Given the description of an element on the screen output the (x, y) to click on. 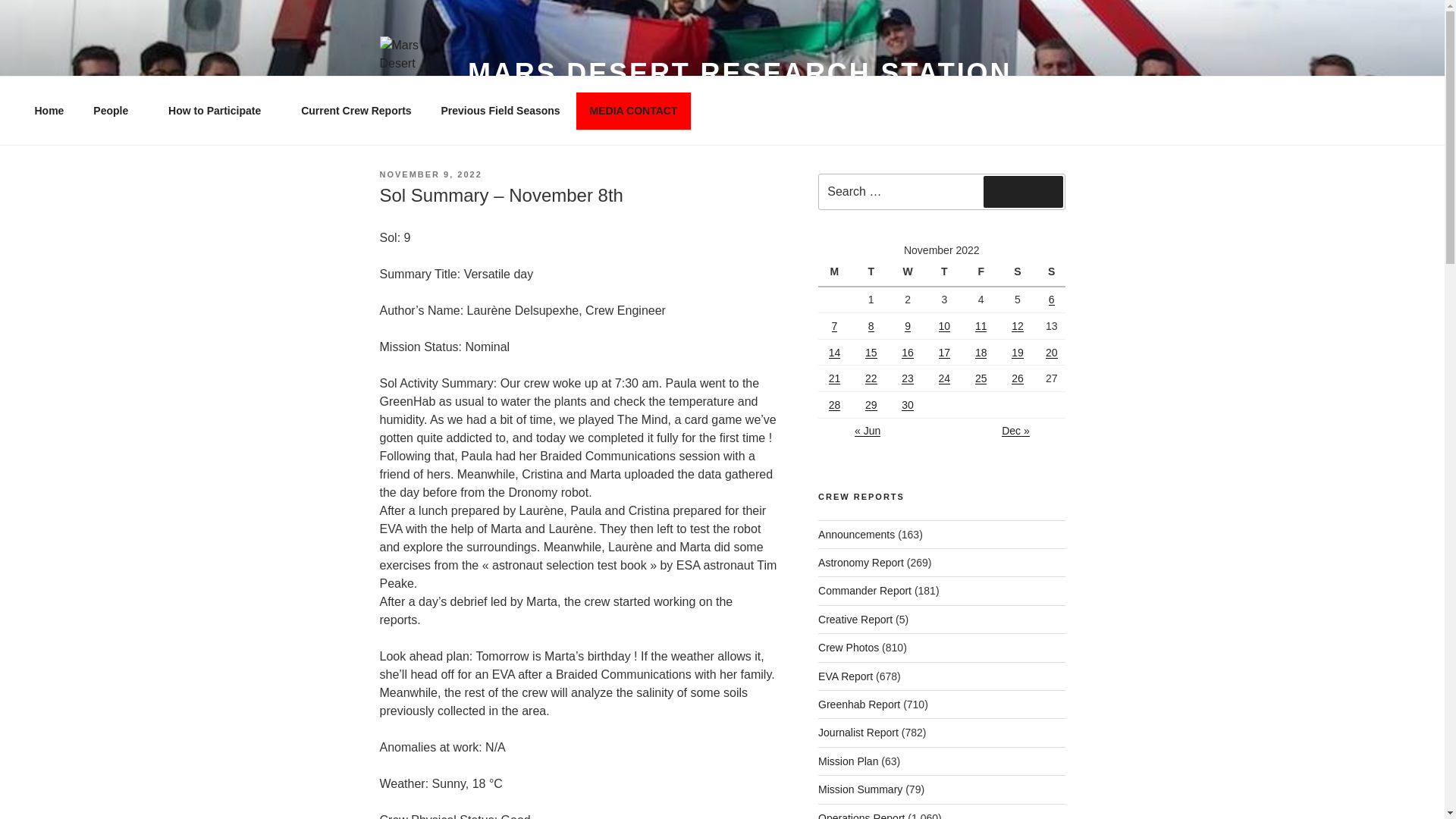
Previous Field Seasons (500, 110)
Monday (836, 272)
Friday (982, 272)
How to Participate (220, 110)
15 (870, 351)
Home (49, 110)
19 (1017, 351)
MARS DESERT RESEARCH STATION (739, 72)
Saturday (1019, 272)
23 (907, 378)
